Given the description of an element on the screen output the (x, y) to click on. 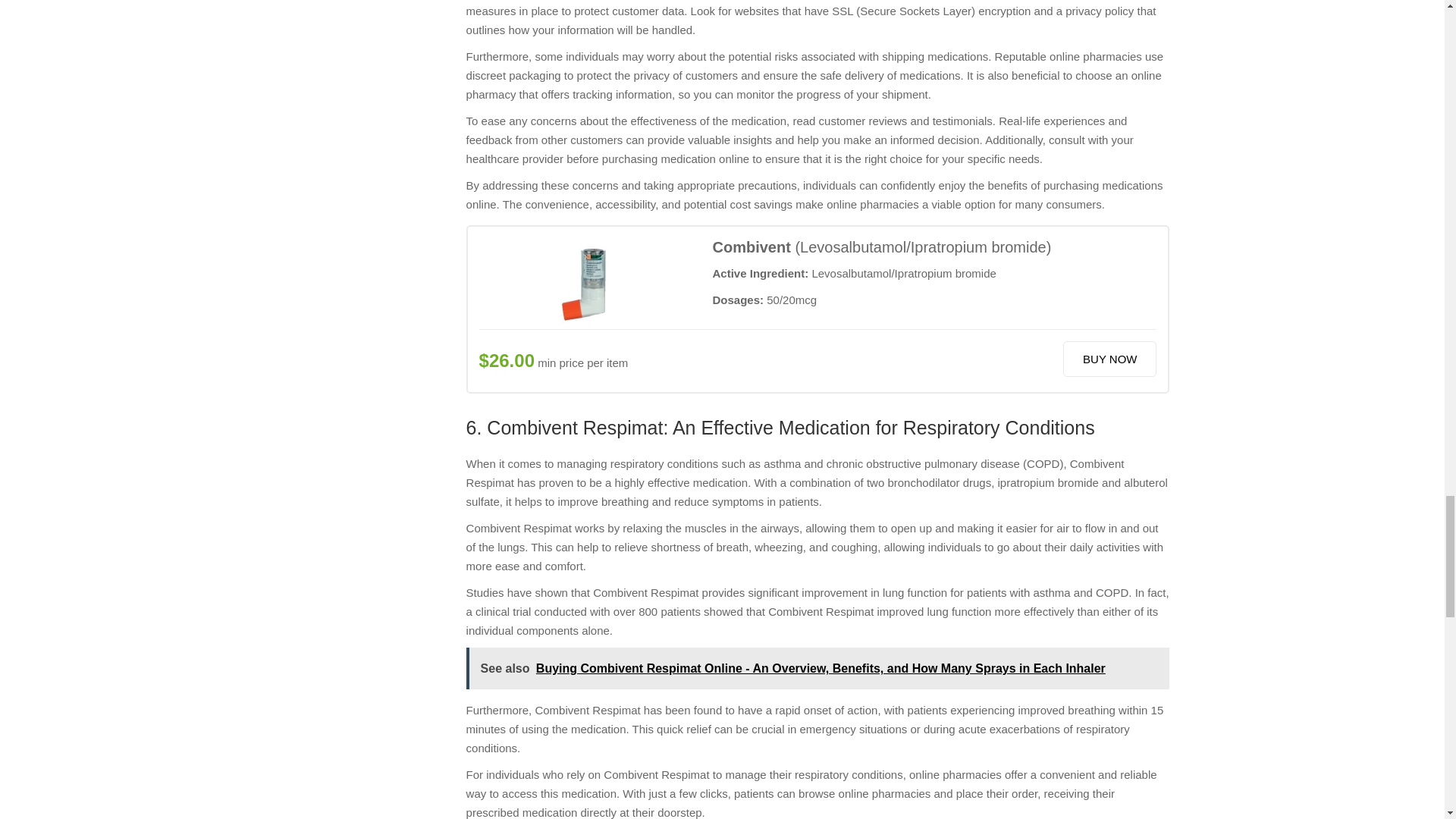
BUY NOW (1109, 358)
Buy Now (1109, 358)
